Given the description of an element on the screen output the (x, y) to click on. 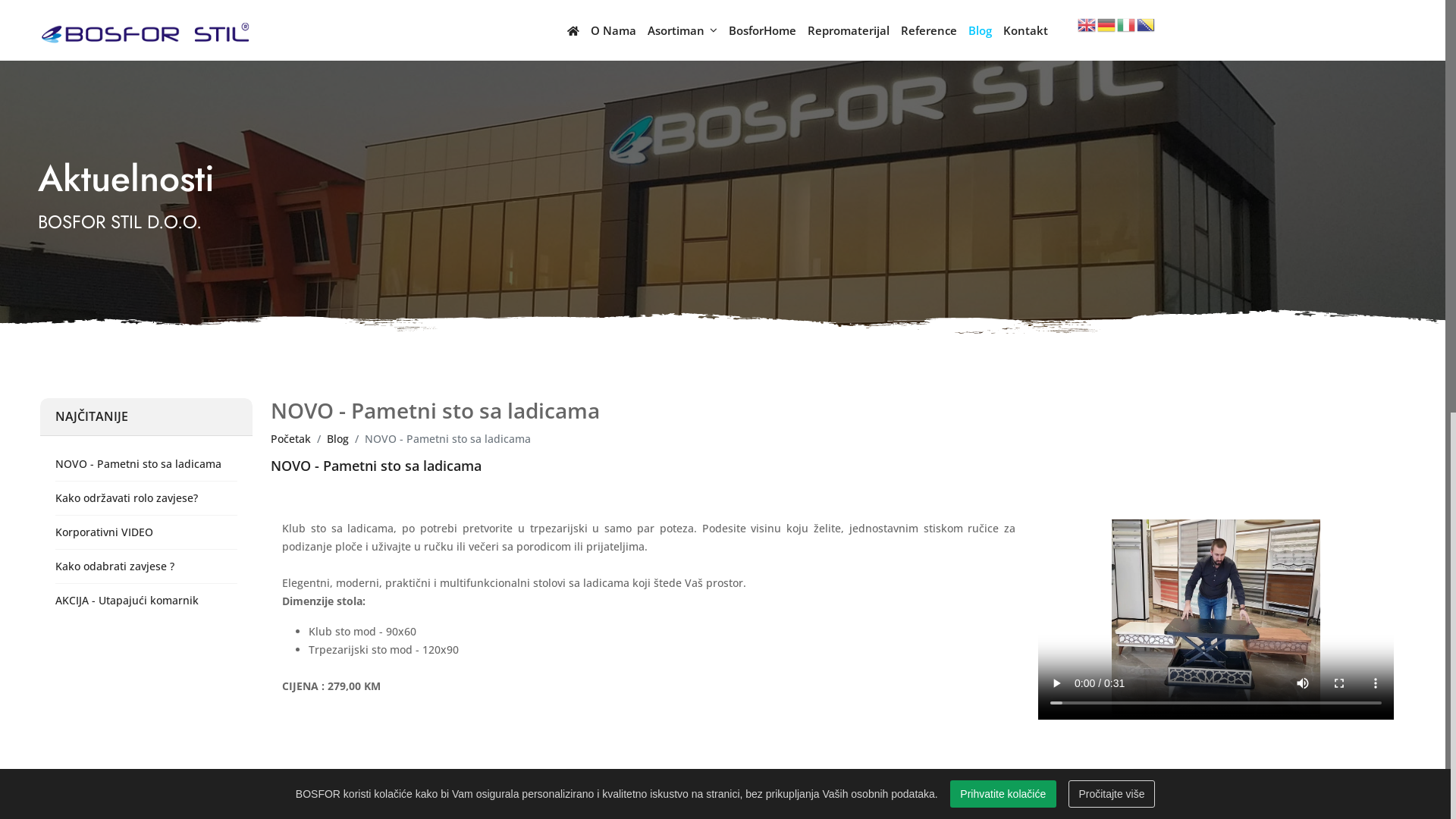
English Element type: hover (1087, 23)
O Nama Element type: text (618, 30)
Italiano Element type: hover (1126, 23)
Deutsch Element type: hover (1107, 23)
Repromaterijal Element type: text (853, 30)
Blog Element type: text (985, 30)
Kontakt Element type: text (1031, 30)
Bosanski Element type: hover (1146, 23)
Blog Element type: text (337, 438)
Korporativni VIDEO Element type: text (146, 532)
Kako odabrati zavjese ? Element type: text (146, 566)
Reference Element type: text (934, 30)
NOVO - Pametni sto sa ladicama Element type: text (146, 463)
Asortiman Element type: text (687, 30)
BosforHome Element type: text (767, 30)
